Given the description of an element on the screen output the (x, y) to click on. 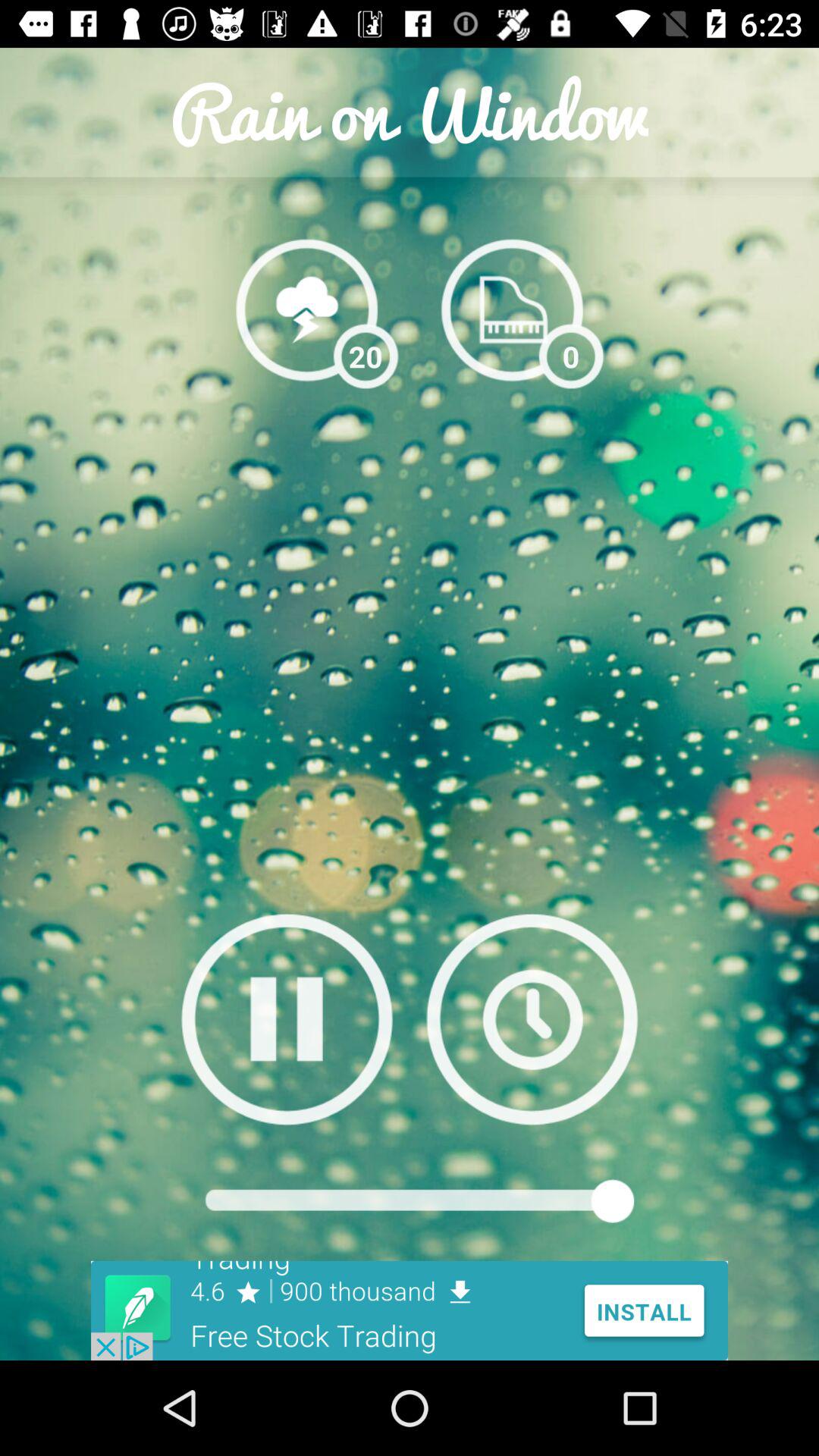
advertisement banner (409, 1310)
